Given the description of an element on the screen output the (x, y) to click on. 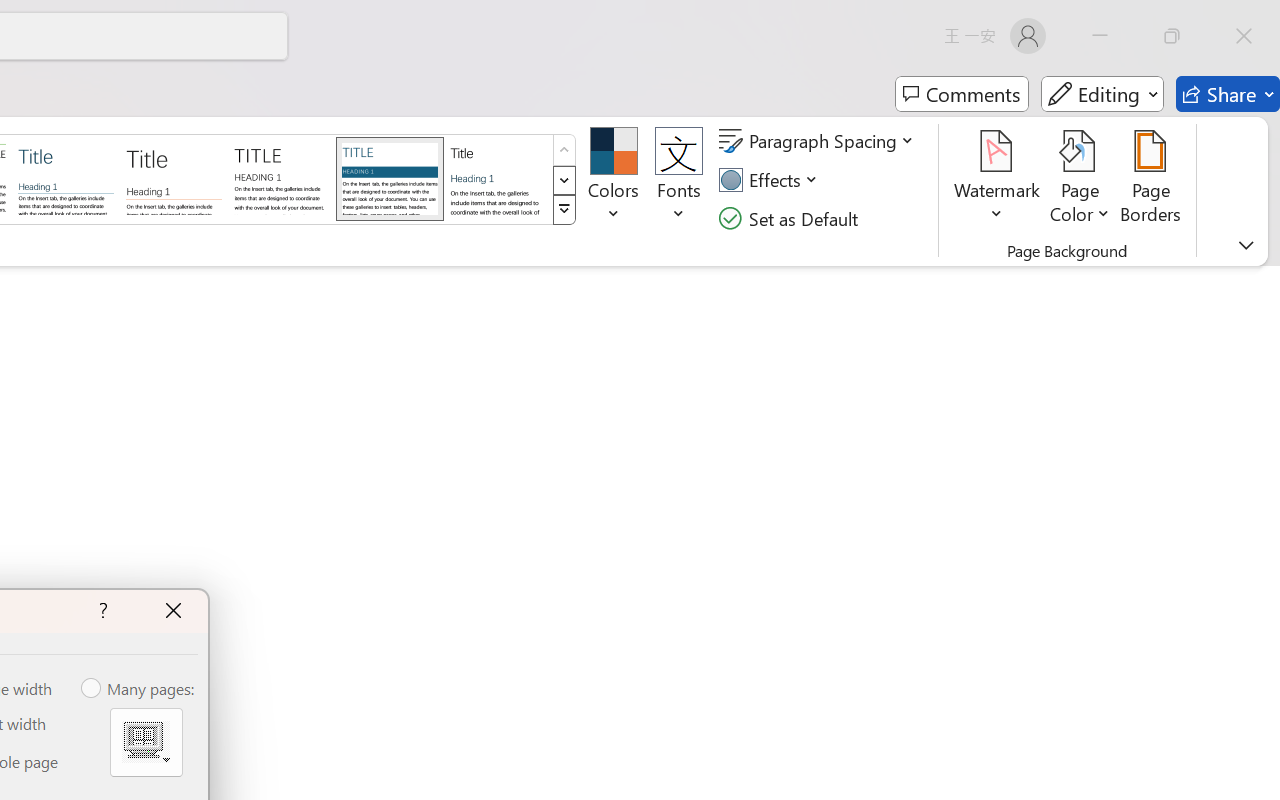
Row Down (564, 180)
Comments (961, 94)
Colors (613, 179)
Page Borders... (1151, 179)
Lines (Simple) (65, 178)
MSO Generic Control Container (146, 742)
Effects (771, 179)
Style Set (564, 209)
Fonts (678, 179)
Row up (564, 150)
Ribbon Display Options (1246, 245)
Multiple Pages (146, 742)
Watermark (997, 179)
